Given the description of an element on the screen output the (x, y) to click on. 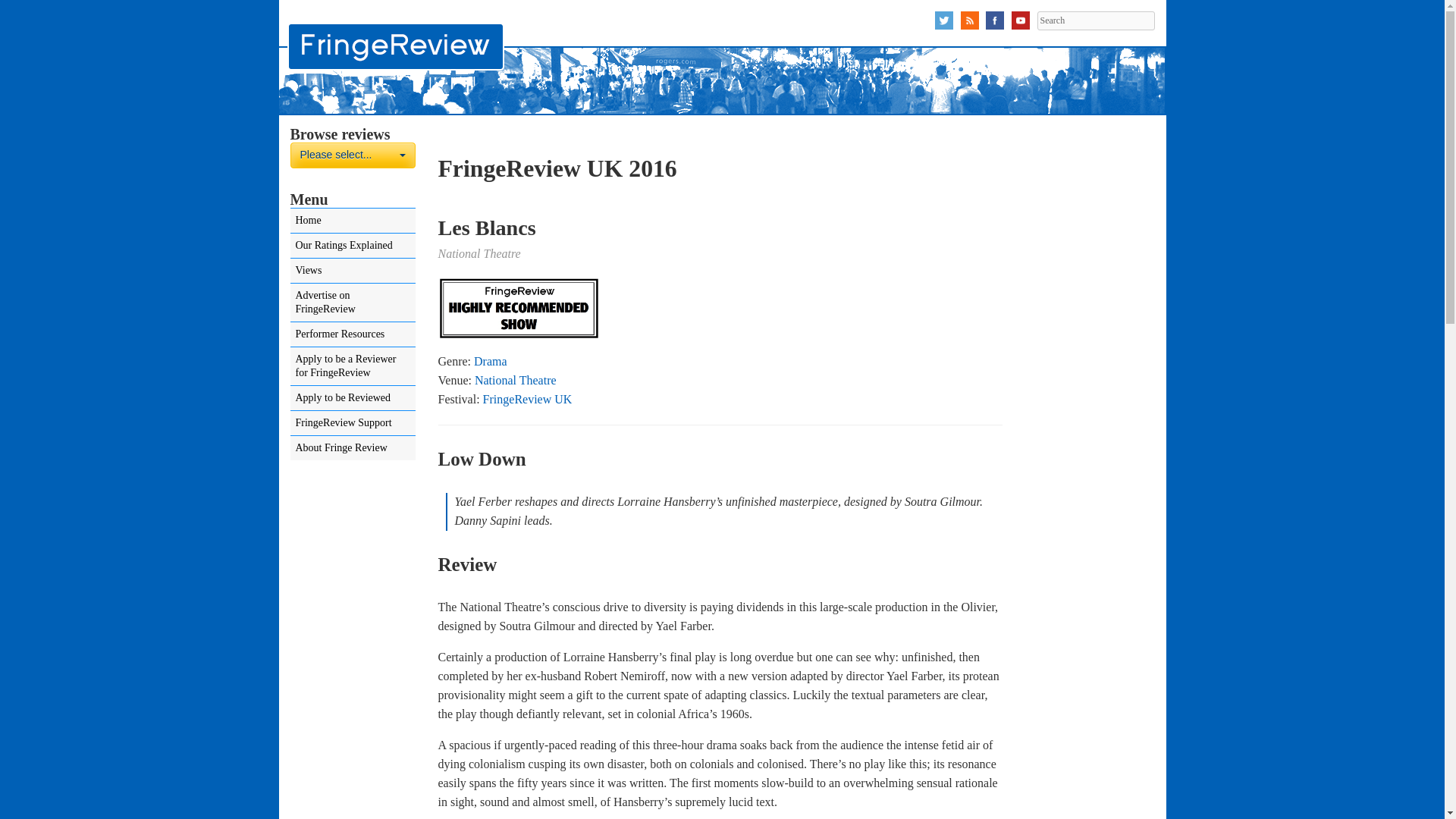
Search for: (1095, 20)
Search (1095, 20)
Search (1095, 20)
Please select... (351, 155)
